Given the description of an element on the screen output the (x, y) to click on. 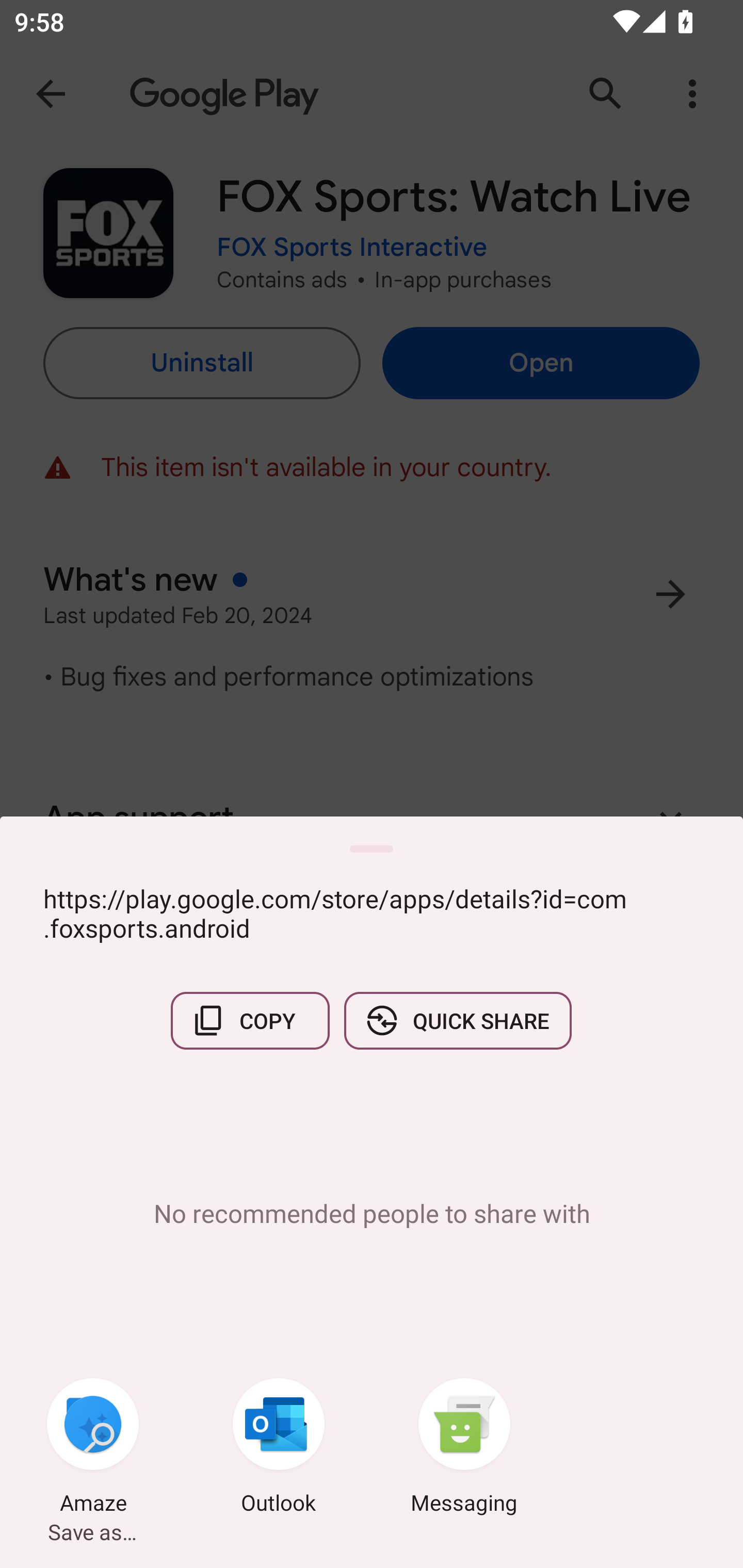
COPY (249, 1020)
QUICK SHARE (457, 1020)
Amaze Save as… (92, 1448)
Outlook (278, 1448)
Messaging (464, 1448)
